Given the description of an element on the screen output the (x, y) to click on. 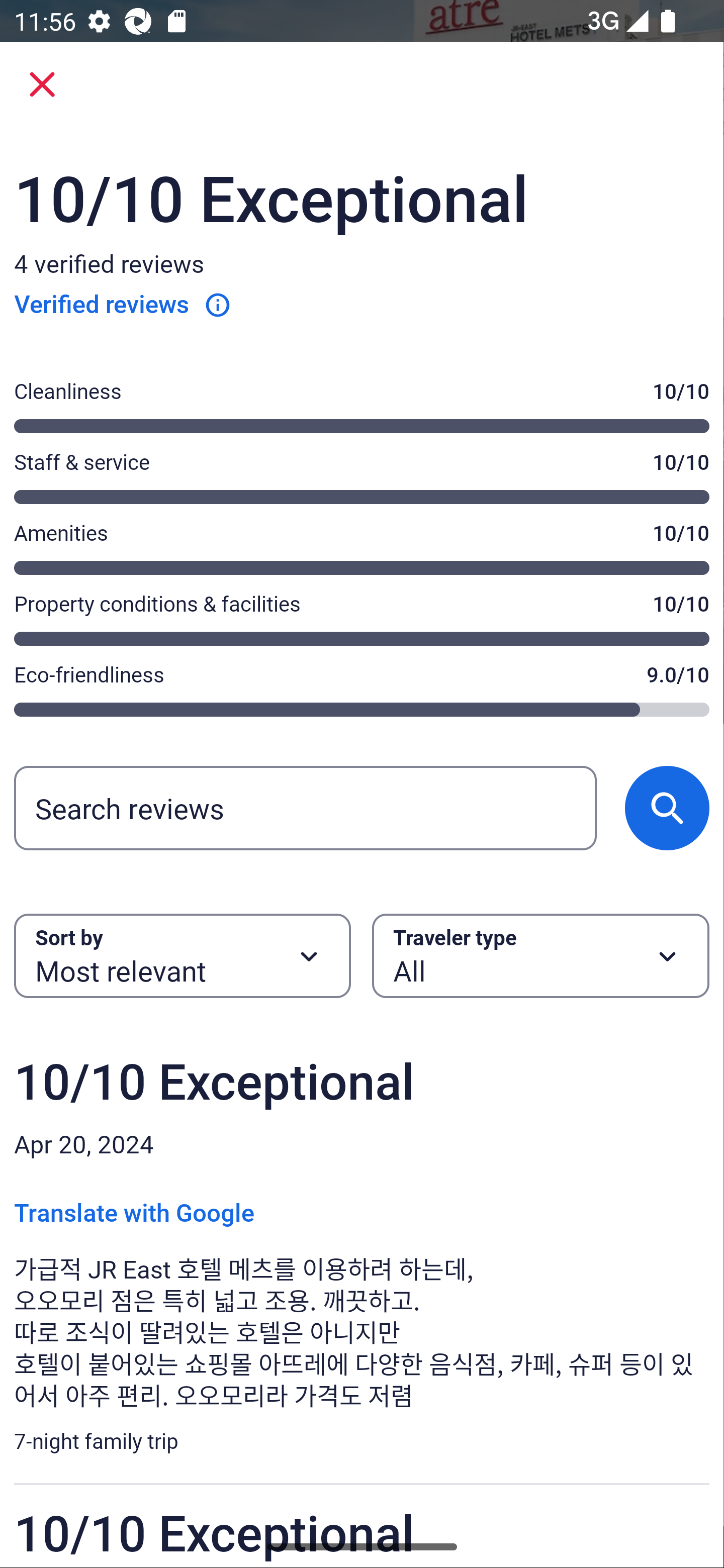
Close (42, 84)
Verified reviews (122, 303)
Search reviews (304, 807)
Search reviews button (666, 807)
Sort by Button Most relevant (182, 956)
Traveler type Button All (540, 956)
Translate with Google Translate with Google Link (133, 1209)
